Given the description of an element on the screen output the (x, y) to click on. 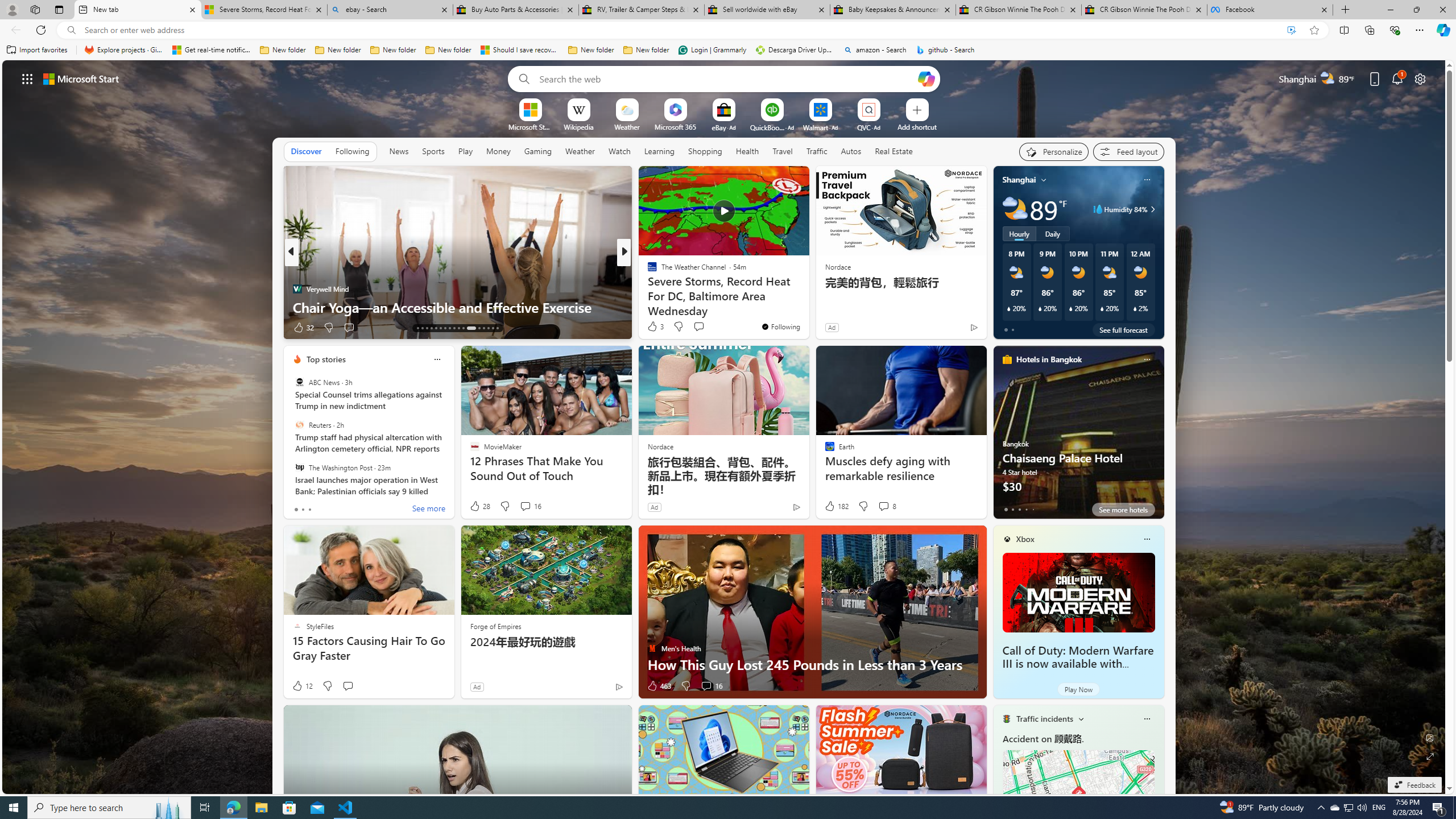
353 Like (654, 327)
Hourly (1018, 233)
AutomationID: tab-16 (431, 328)
AutomationID: tab-25 (478, 328)
The History of the Windows Start Menu (807, 307)
12 Like (301, 685)
Should I save recovered Word documents? - Microsoft Support (519, 49)
